Given the description of an element on the screen output the (x, y) to click on. 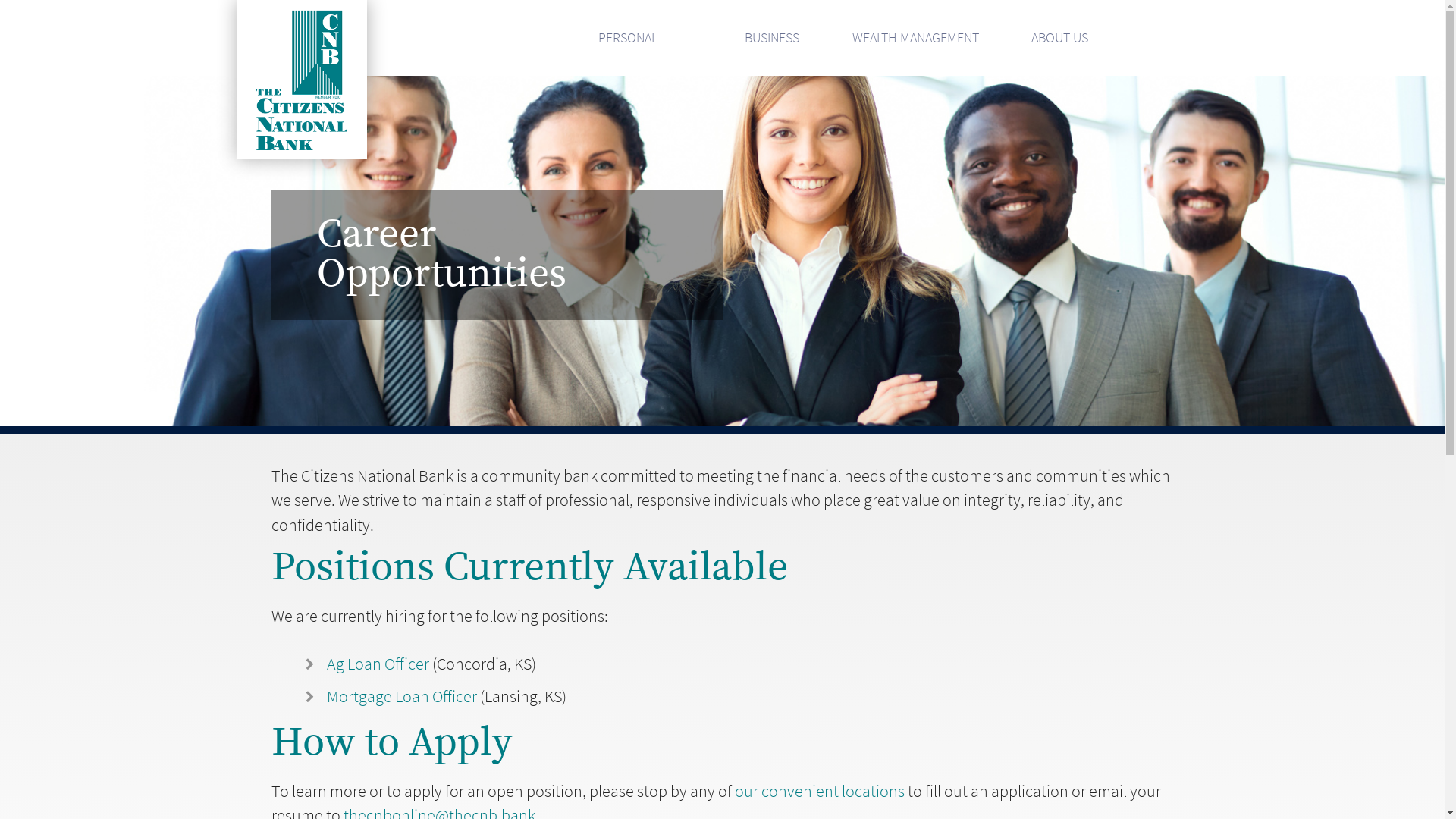
Ag Loan Officer Element type: text (377, 663)
WEALTH MANAGEMENT Element type: text (915, 38)
our convenient locations Element type: text (818, 791)
BUSINESS Element type: text (771, 38)
Mortgage Loan Officer Element type: text (401, 696)
PERSONAL Element type: text (627, 38)
ABOUT US Element type: text (1059, 38)
